Given the description of an element on the screen output the (x, y) to click on. 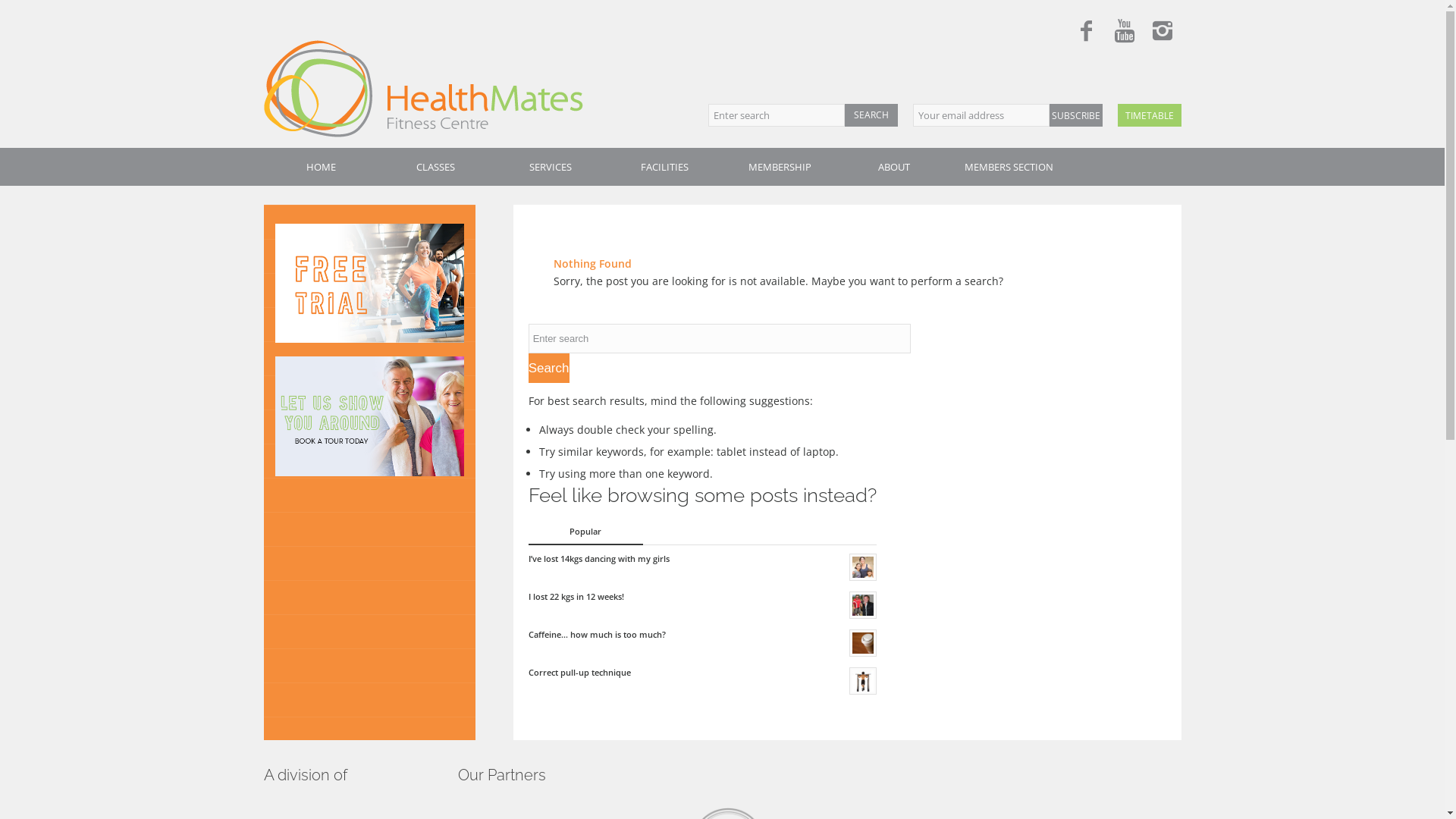
SERVICES Element type: text (549, 166)
FACILITIES Element type: text (664, 166)
MEMBERSHIP Element type: text (778, 166)
TIMETABLE Element type: text (1149, 114)
Facebook Element type: hover (1086, 32)
HOME Element type: text (320, 166)
Search Element type: text (870, 114)
Subscribe Element type: text (1075, 114)
CLASSES Element type: text (435, 166)
Correct pull-up technique
Sunday, April 28, 2013 - 2:42 am Element type: text (702, 679)
Youtube Element type: hover (1124, 32)
Search Element type: text (548, 367)
ABOUT Element type: text (894, 166)
MEMBERS SECTION Element type: text (1008, 166)
Instagram Element type: hover (1162, 32)
